Given the description of an element on the screen output the (x, y) to click on. 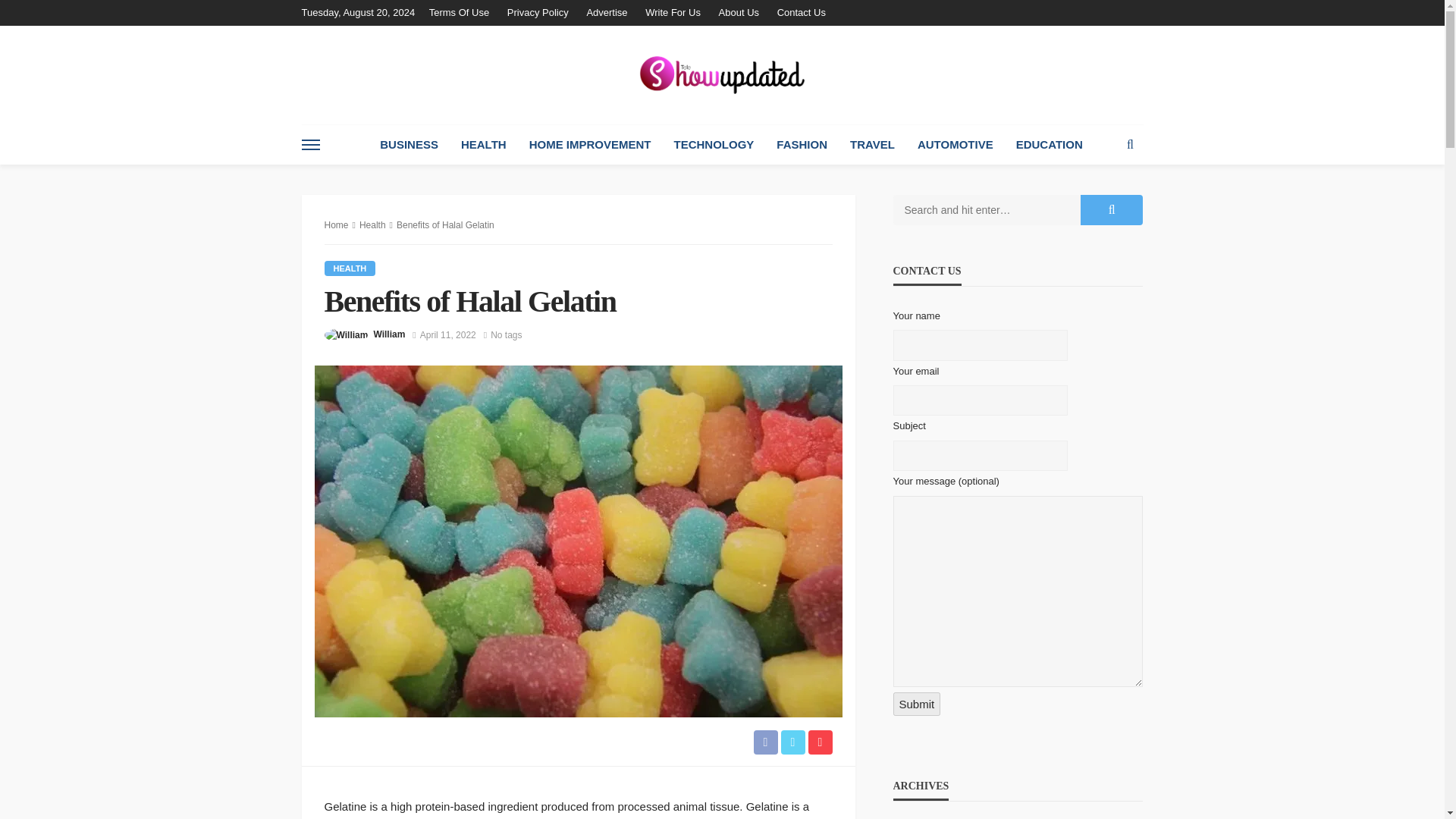
BUSINESS (408, 144)
HOME IMPROVEMENT (590, 144)
About Us (739, 12)
TECHNOLOGY (713, 144)
Contact Us (801, 12)
Tele Show Updates (721, 74)
TRAVEL (871, 144)
FASHION (801, 144)
Privacy Policy (537, 12)
AUTOMOTIVE (954, 144)
